Given the description of an element on the screen output the (x, y) to click on. 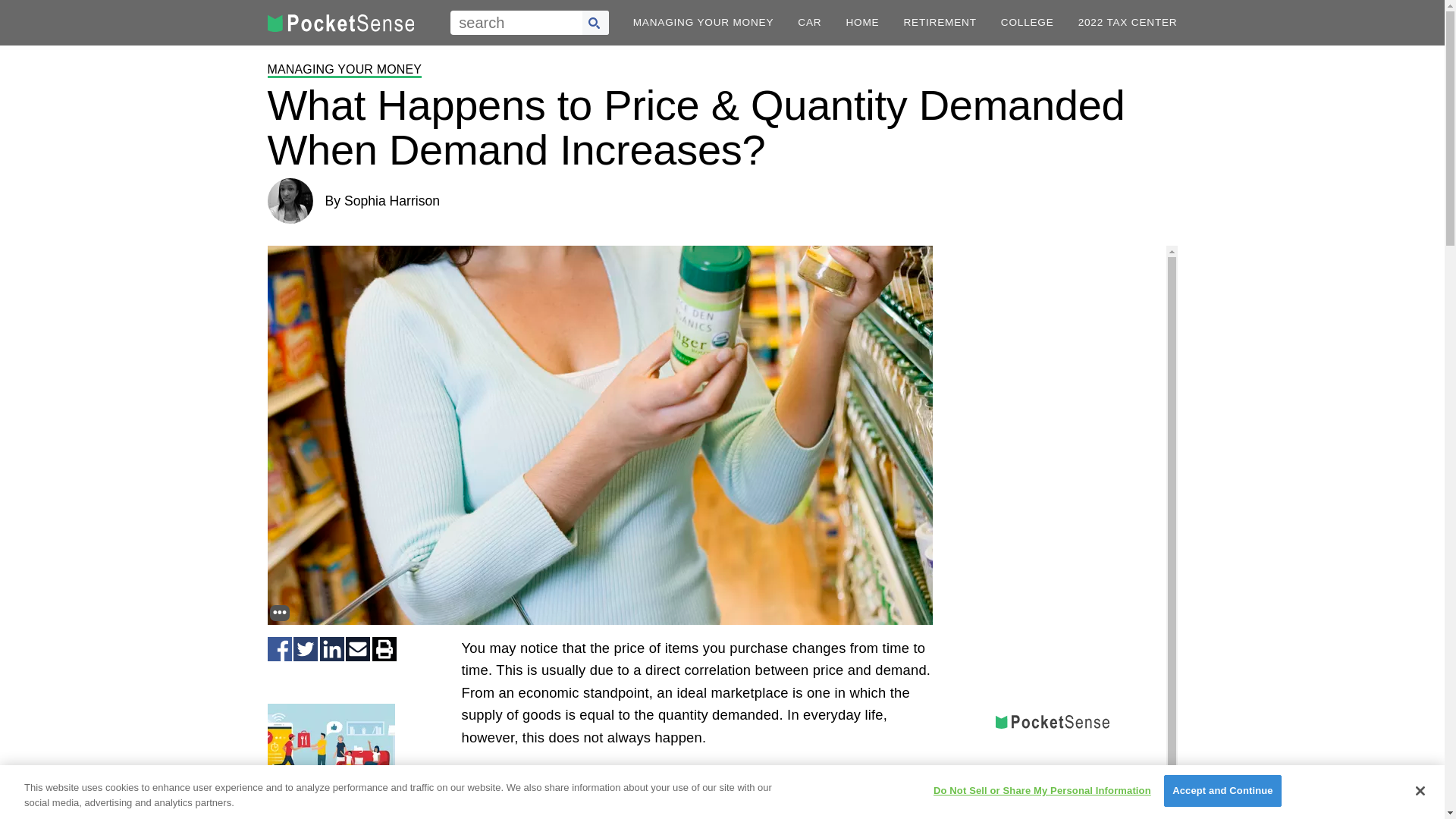
2022 TAX CENTER (1127, 22)
COLLEGE (1027, 22)
3rd party ad content (695, 796)
3rd party ad content (1052, 339)
RETIREMENT (938, 22)
MANAGING YOUR MONEY (344, 70)
HOME (862, 22)
MANAGING YOUR MONEY (703, 22)
3rd party ad content (1052, 780)
